Given the description of an element on the screen output the (x, y) to click on. 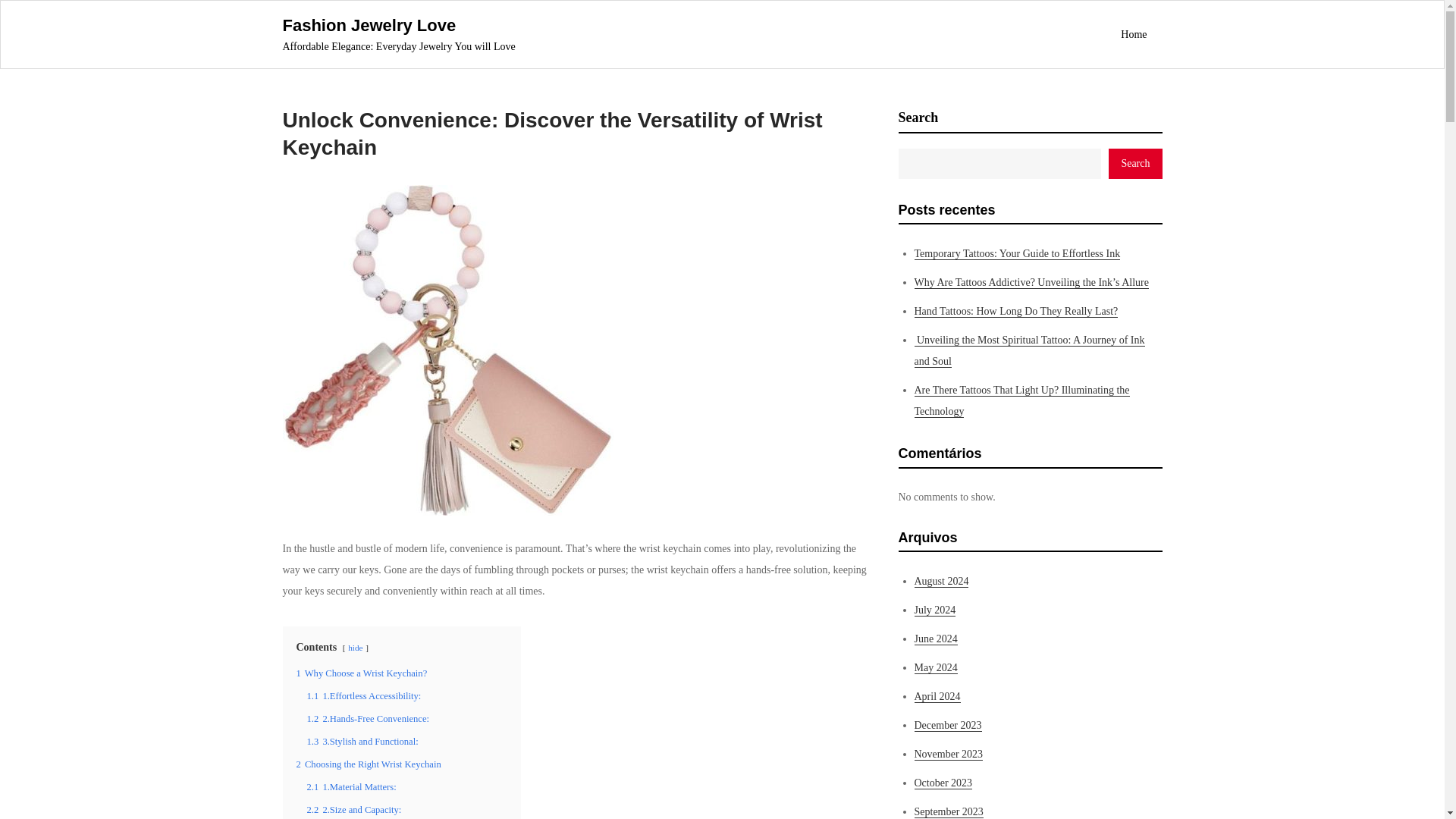
2.1 1.Material Matters: (350, 787)
1 Why Choose a Wrist Keychain? (360, 673)
hide (354, 646)
Fashion Jewelry Love (368, 25)
1.2 2.Hands-Free Convenience: (367, 718)
1.3 3.Stylish and Functional: (361, 741)
2.2 2.Size and Capacity: (353, 809)
1.1 1.Effortless Accessibility: (362, 696)
2 Choosing the Right Wrist Keychain (368, 764)
